Given the description of an element on the screen output the (x, y) to click on. 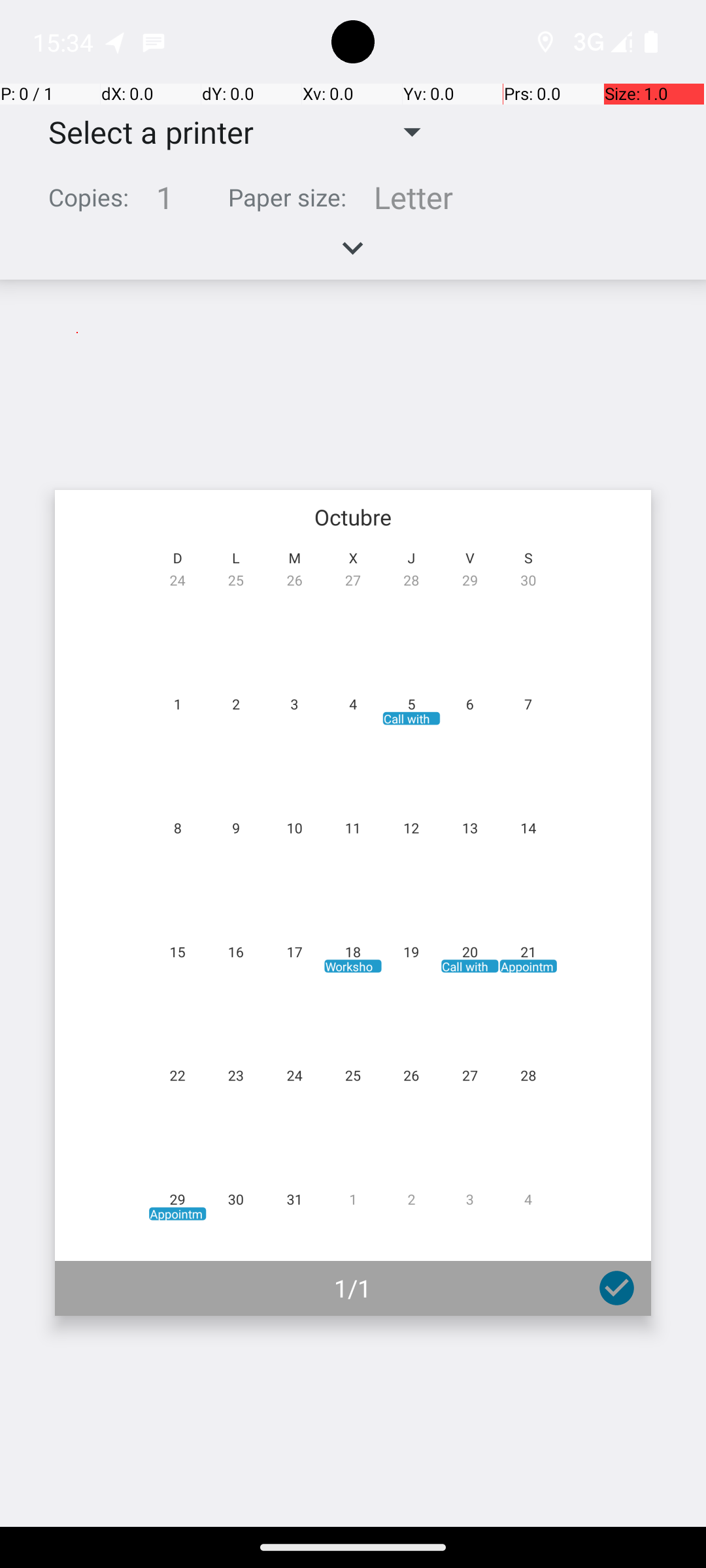
Expand handle Element type: android.widget.FrameLayout (353, 255)
Summary, copies 1, paper size Letter Element type: android.widget.LinearLayout (353, 202)
Select a printer Element type: android.widget.TextView (140, 131)
Copies: Element type: android.widget.TextView (88, 196)
Paper size: Element type: android.widget.TextView (287, 196)
Letter Element type: android.widget.TextView (413, 196)
Page 1 of 1 Element type: android.widget.CompoundButton (352, 902)
1/1 Element type: android.widget.TextView (352, 1287)
